Given the description of an element on the screen output the (x, y) to click on. 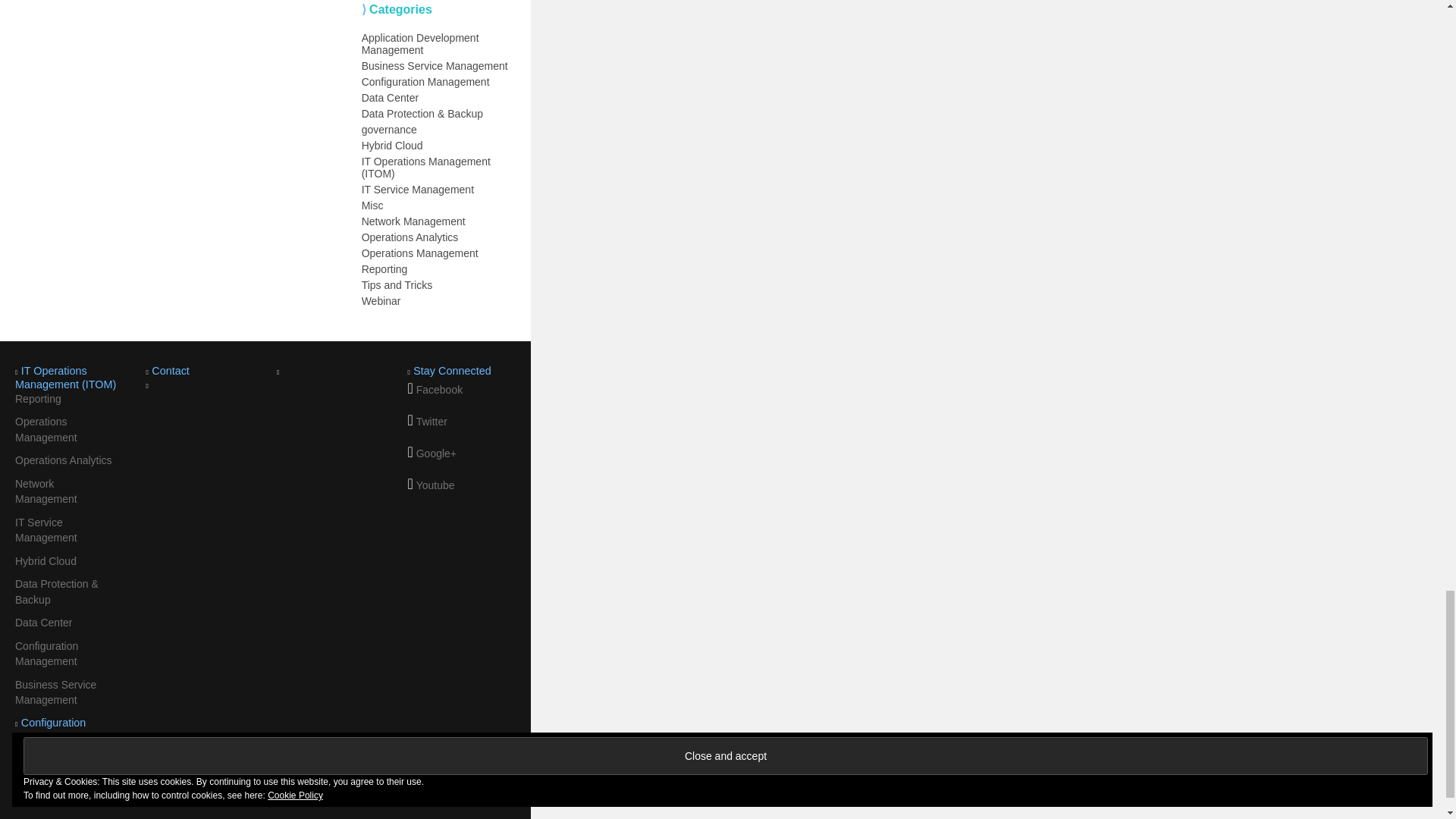
View all posts in Operations Analytics (63, 460)
View all posts in Reporting (37, 398)
View all posts in Operations Management (45, 429)
